Given the description of an element on the screen output the (x, y) to click on. 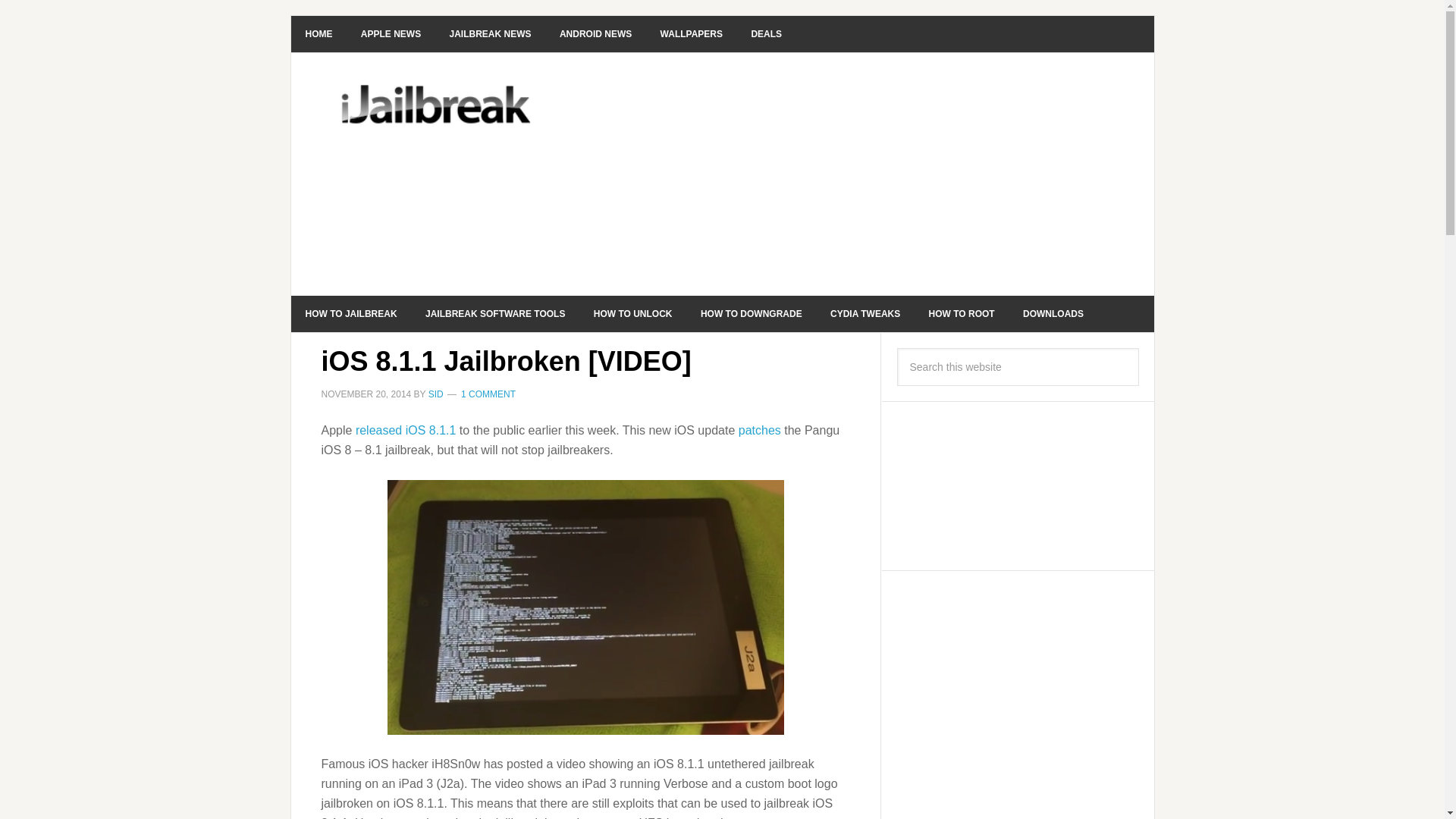
CYDIA TWEAKS (864, 313)
APPLE NEWS (390, 33)
How To Jailbreak (351, 313)
Retina Wallpapers (691, 33)
HOW TO ROOT (961, 313)
Advertisement (835, 173)
HOW TO UNLOCK (633, 313)
DEALS (766, 33)
JAILBREAK NEWS (490, 33)
Jailbreak Software And Tools (494, 313)
ANDROID NEWS (595, 33)
HOME (319, 33)
WALLPAPERS (691, 33)
iJailbreak Home Page (319, 33)
HOW TO DOWNGRADE (750, 313)
